Given the description of an element on the screen output the (x, y) to click on. 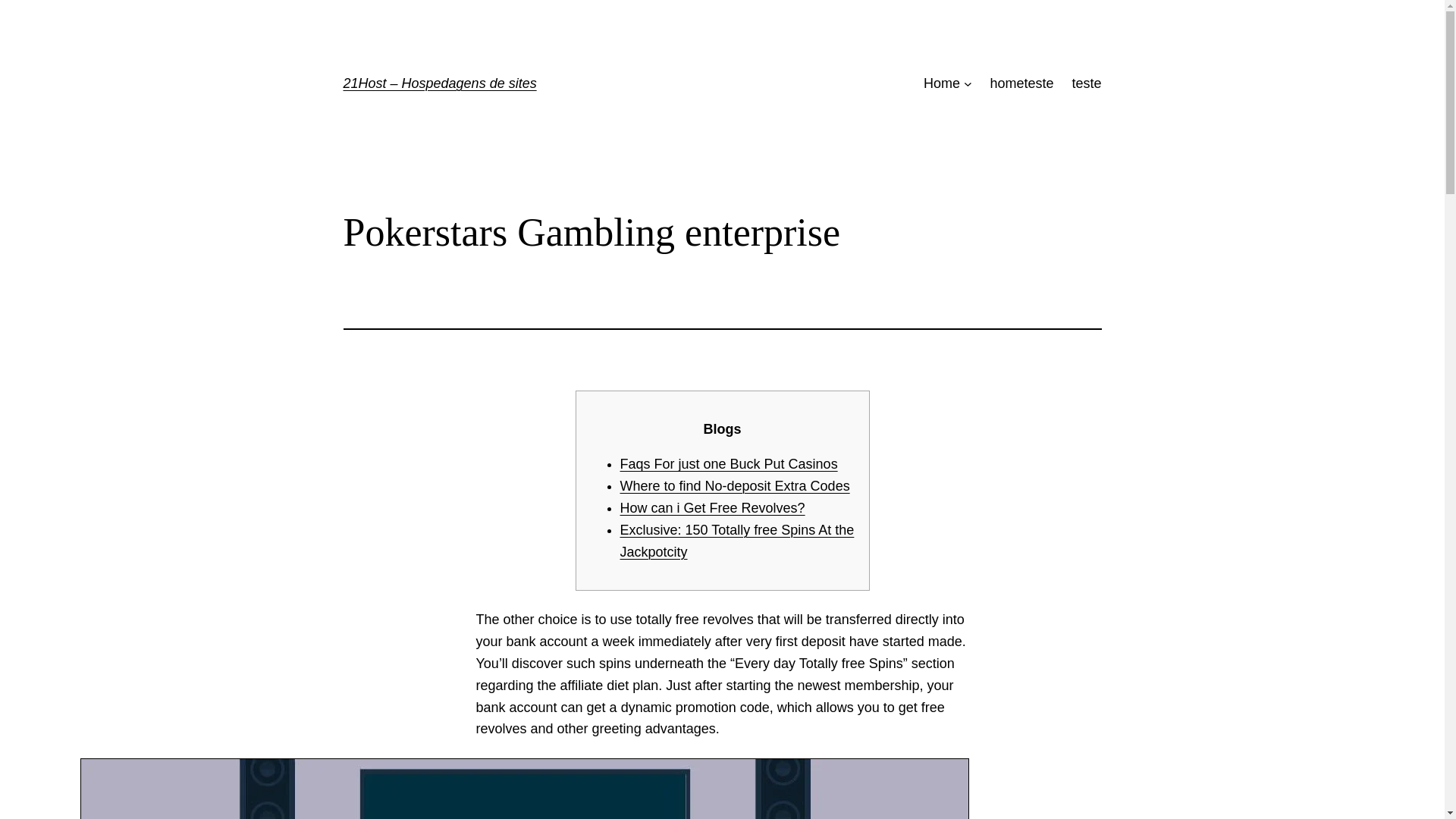
Home (941, 83)
Exclusive: 150 Totally free Spins At the Jackpotcity (737, 540)
teste (1085, 83)
Where to find No-deposit Extra Codes (735, 485)
Faqs For just one Buck Put Casinos (729, 463)
How can i Get Free Revolves? (712, 507)
hometeste (1021, 83)
